Given the description of an element on the screen output the (x, y) to click on. 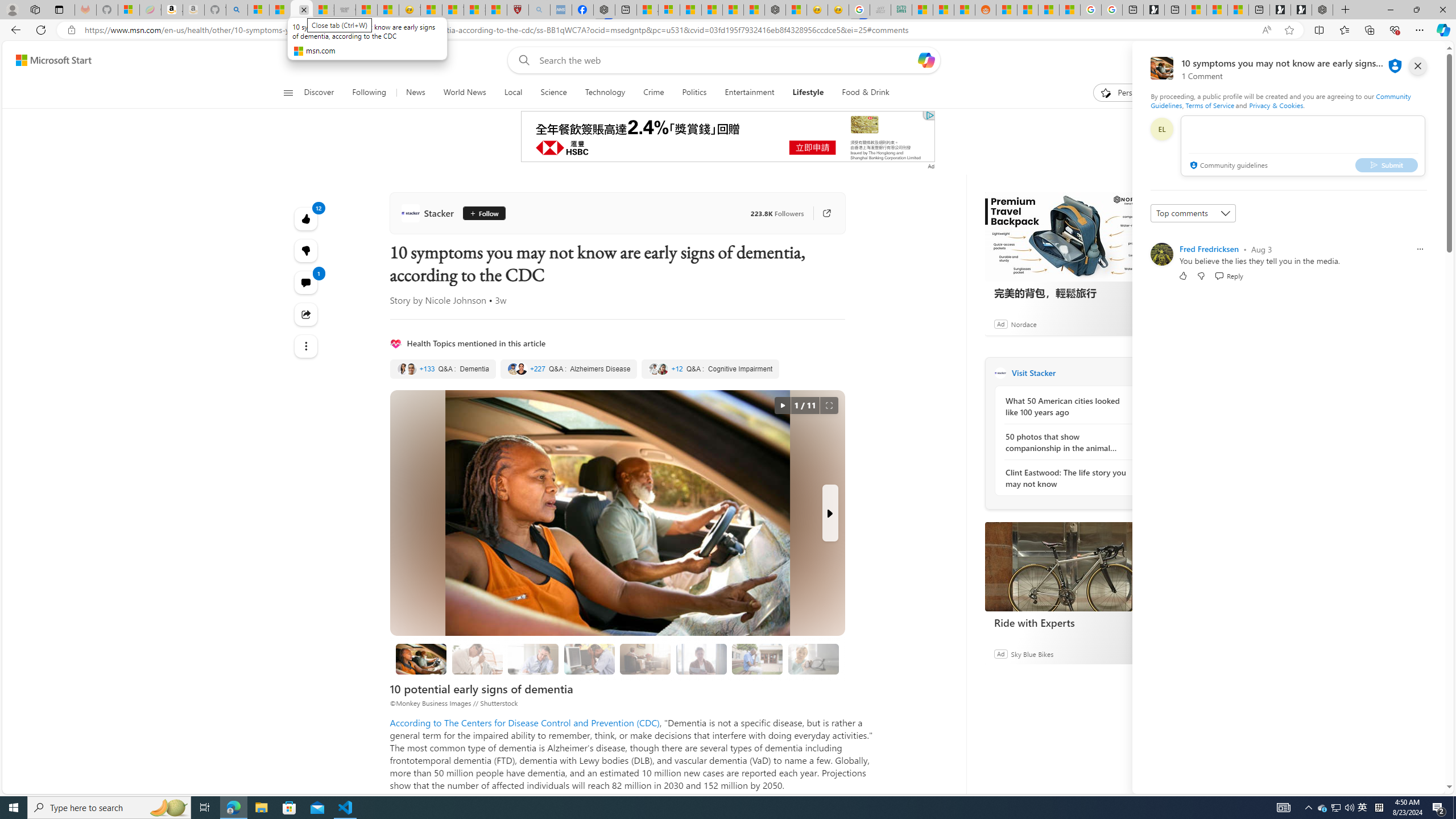
Play Free Online Games | Games from Microsoft Start (1300, 9)
Personalize (1128, 92)
Class: qc-adchoices-icon (929, 115)
12 Popular Science Lies that Must be Corrected (496, 9)
Lifestyle (807, 92)
App bar (728, 29)
Terms of Service (1209, 104)
14 Common Myths Debunked By Scientific Facts (732, 9)
Politics (694, 92)
